Given the description of an element on the screen output the (x, y) to click on. 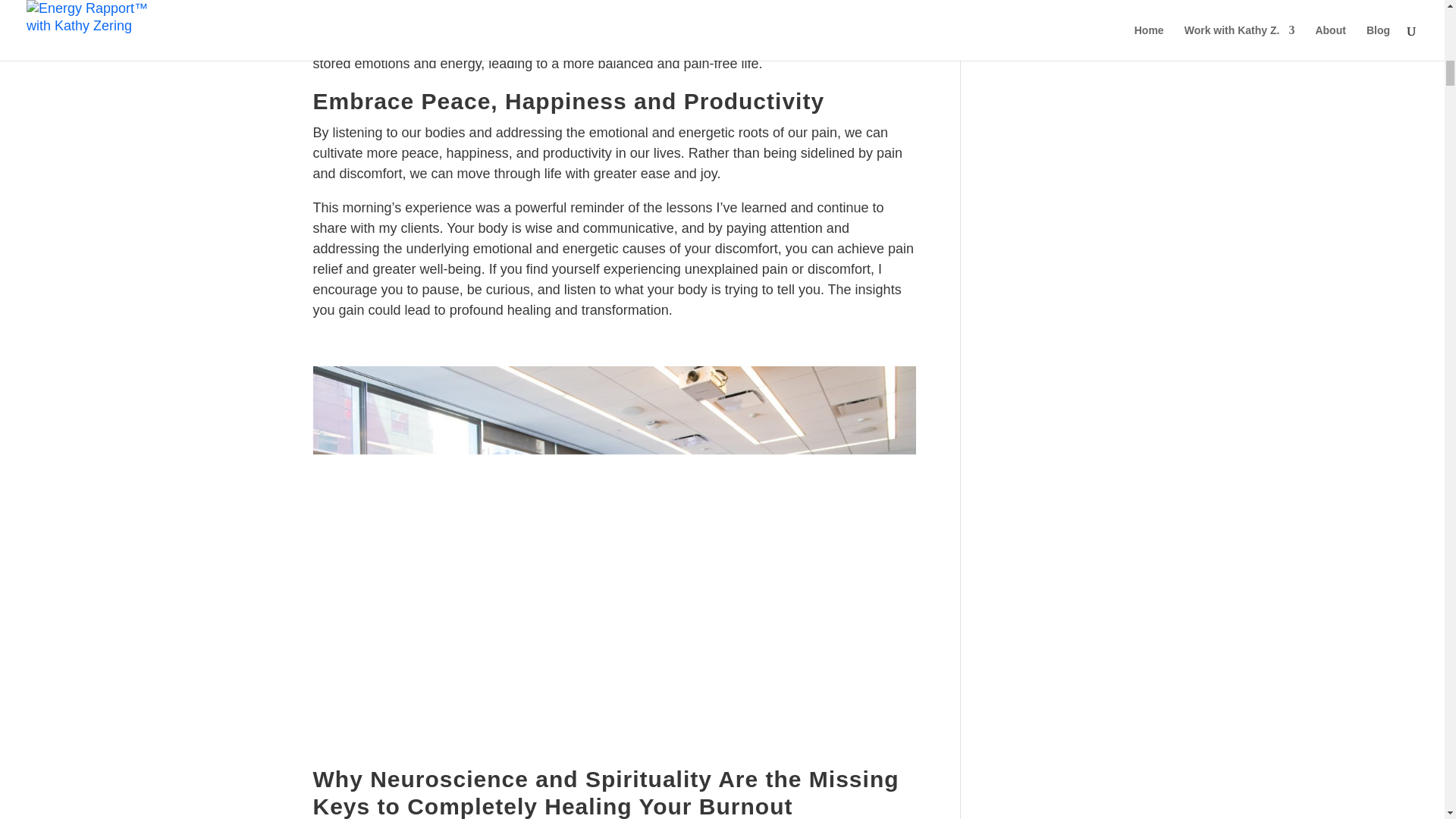
energy healing (755, 22)
guided imagery, (432, 43)
